Given the description of an element on the screen output the (x, y) to click on. 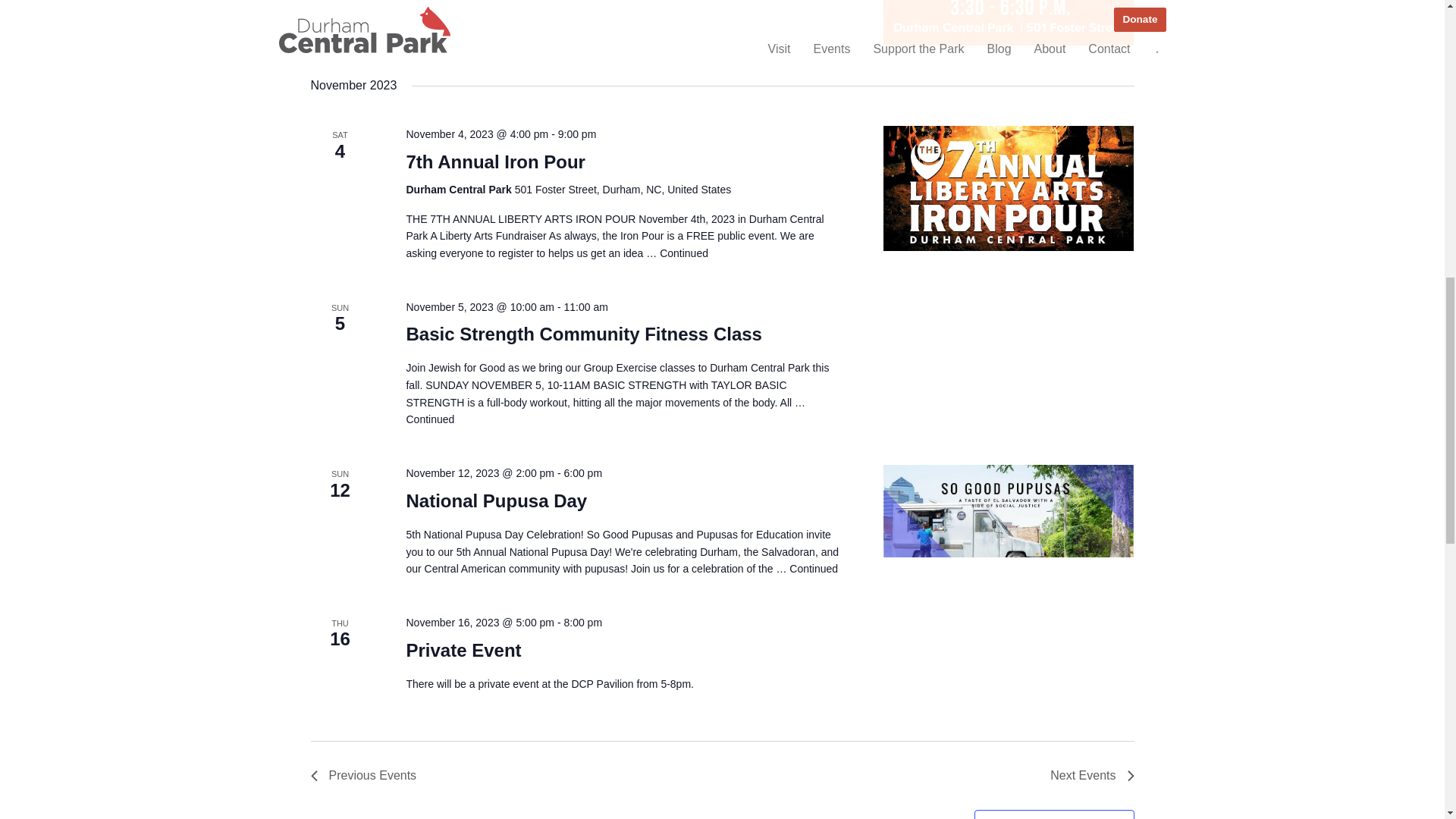
Private Event (463, 649)
7th Annual Iron Pour (1008, 188)
National Pupusa Day (496, 500)
Basic Strength Community Fitness Class (583, 333)
National Pupusa Day (1008, 511)
Barktoberfest (1008, 22)
Next Events (1091, 775)
Previous Events (363, 775)
7th Annual Iron Pour (495, 161)
